Given the description of an element on the screen output the (x, y) to click on. 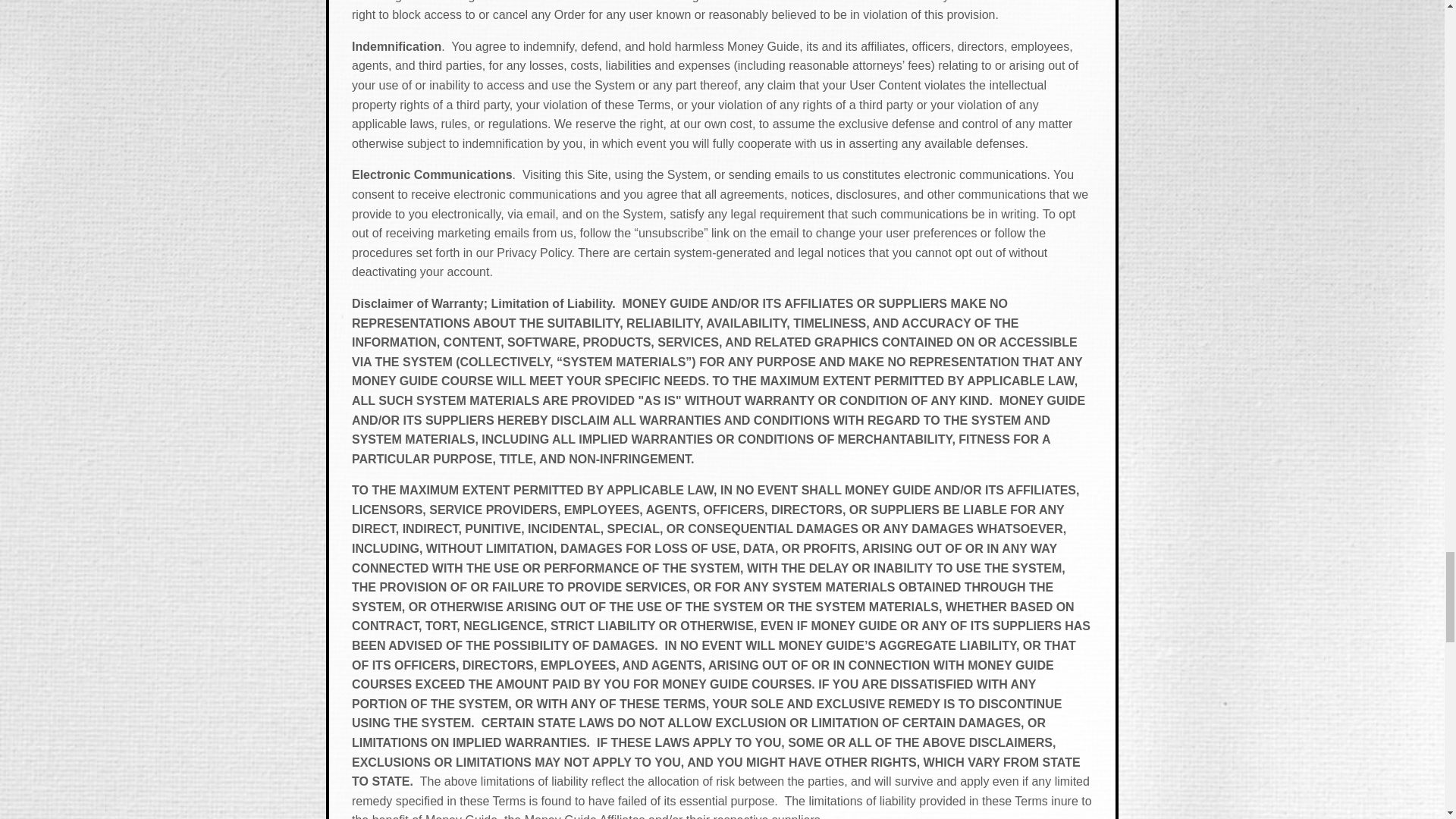
Privacy Policy (533, 252)
